Given the description of an element on the screen output the (x, y) to click on. 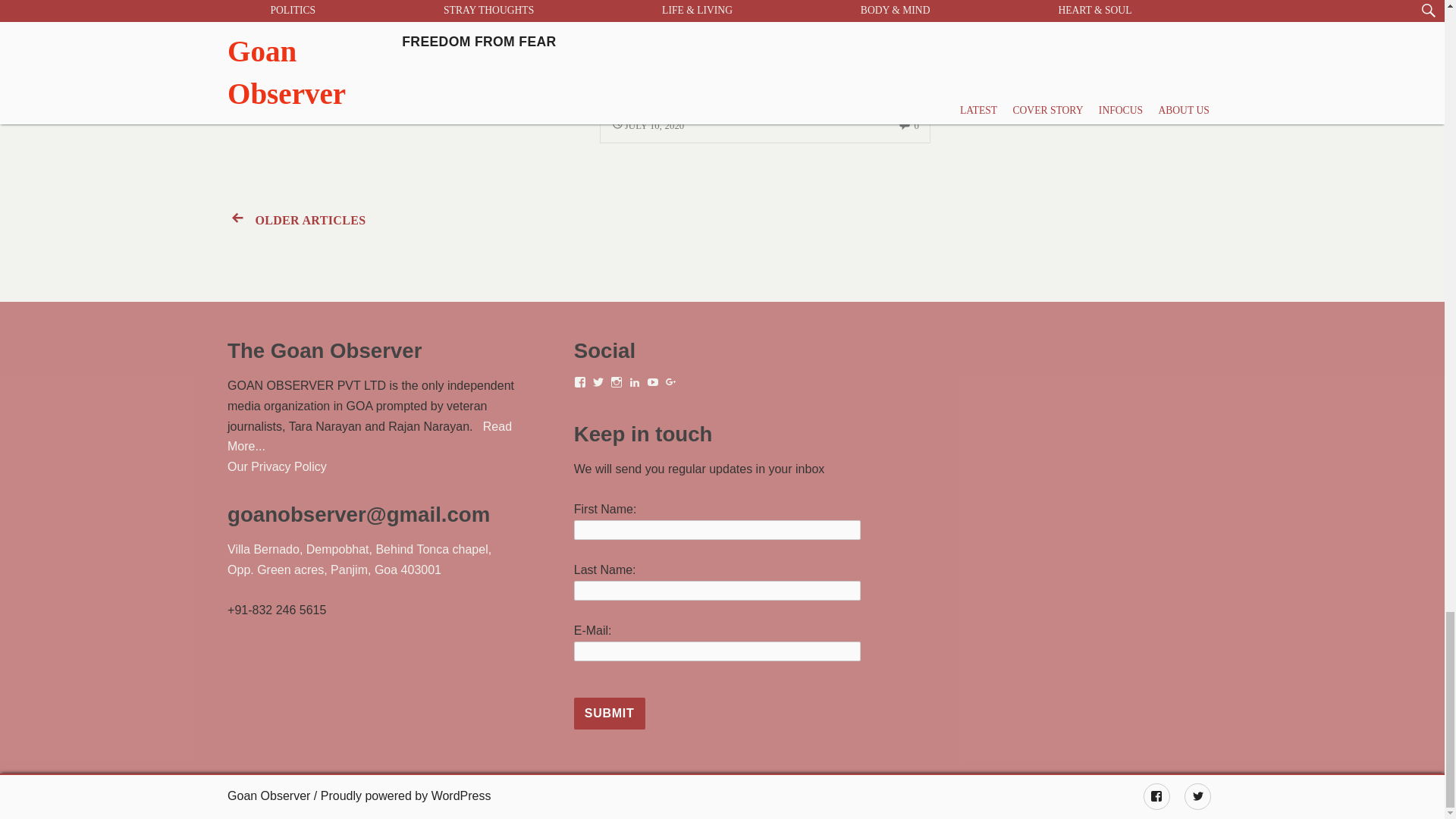
Submit (609, 713)
